Given the description of an element on the screen output the (x, y) to click on. 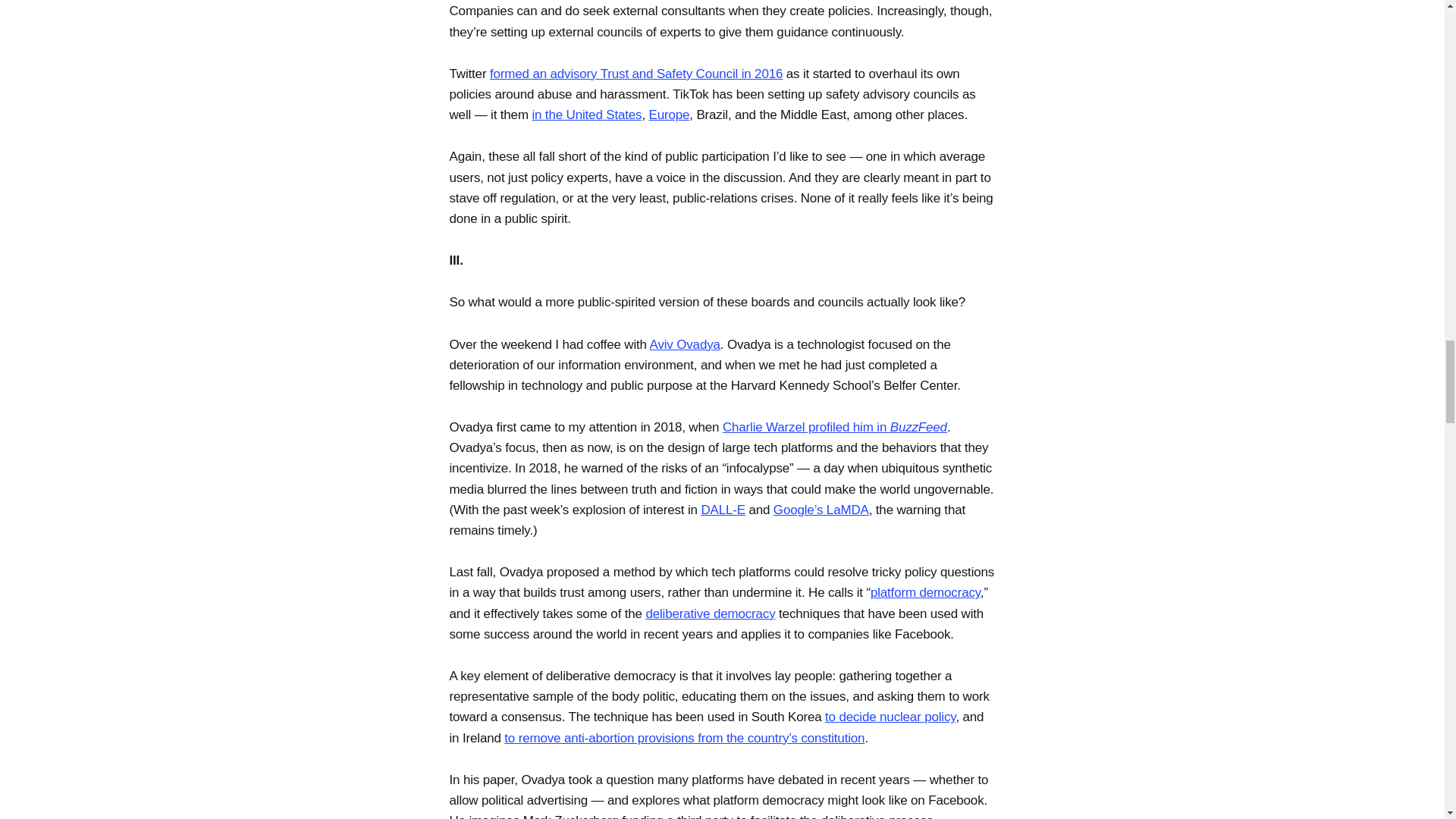
to decide nuclear policy (890, 716)
Aviv Ovadya (684, 343)
formed an advisory Trust and Safety Council in 2016 (636, 73)
Charlie Warzel profiled him in (805, 427)
in the United States (586, 114)
deliberative democracy (709, 613)
DALL-E (722, 509)
BuzzFeed (918, 427)
platform democracy (924, 592)
Europe (669, 114)
